Given the description of an element on the screen output the (x, y) to click on. 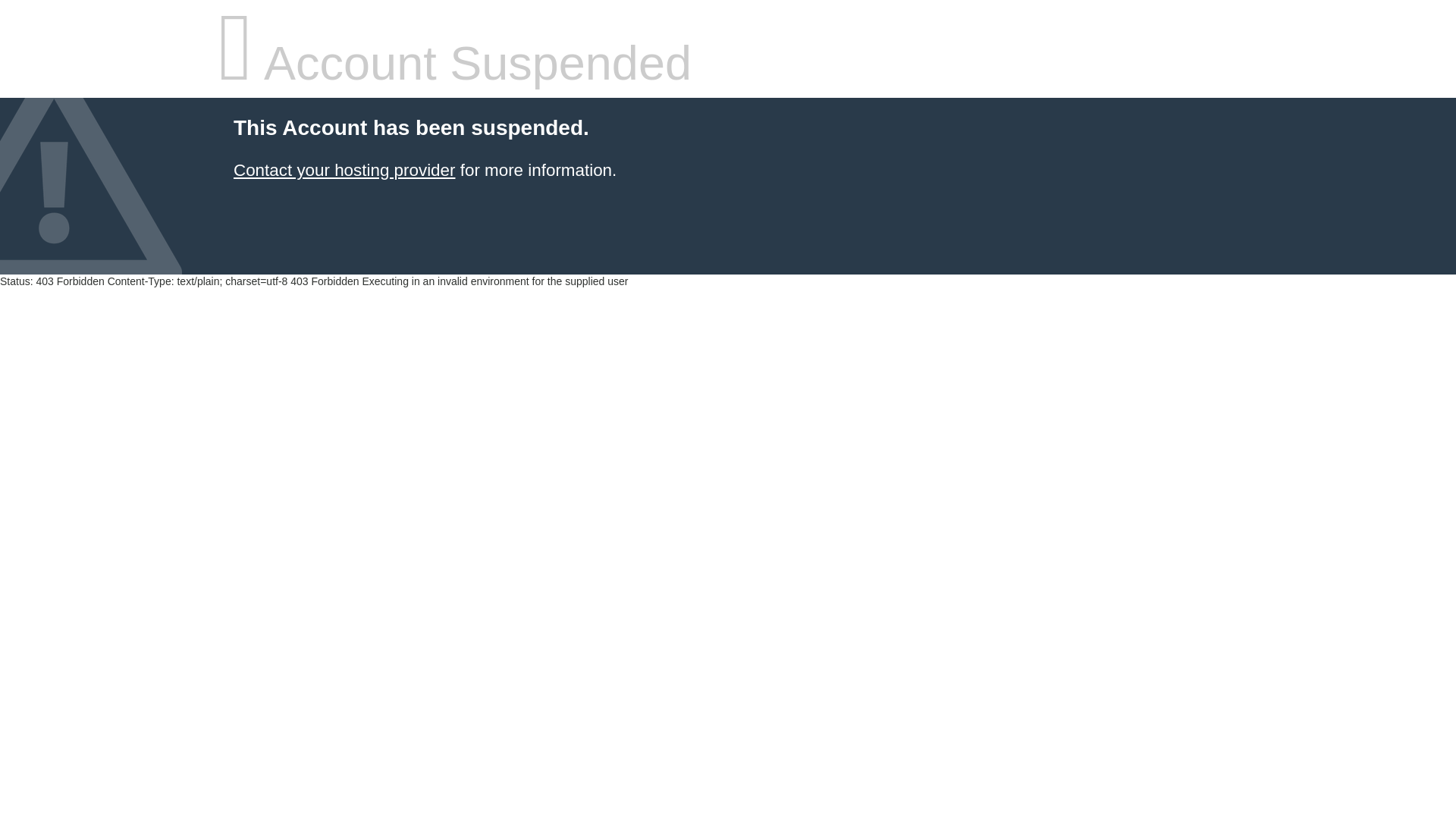
Contact your hosting provider (343, 169)
